Given the description of an element on the screen output the (x, y) to click on. 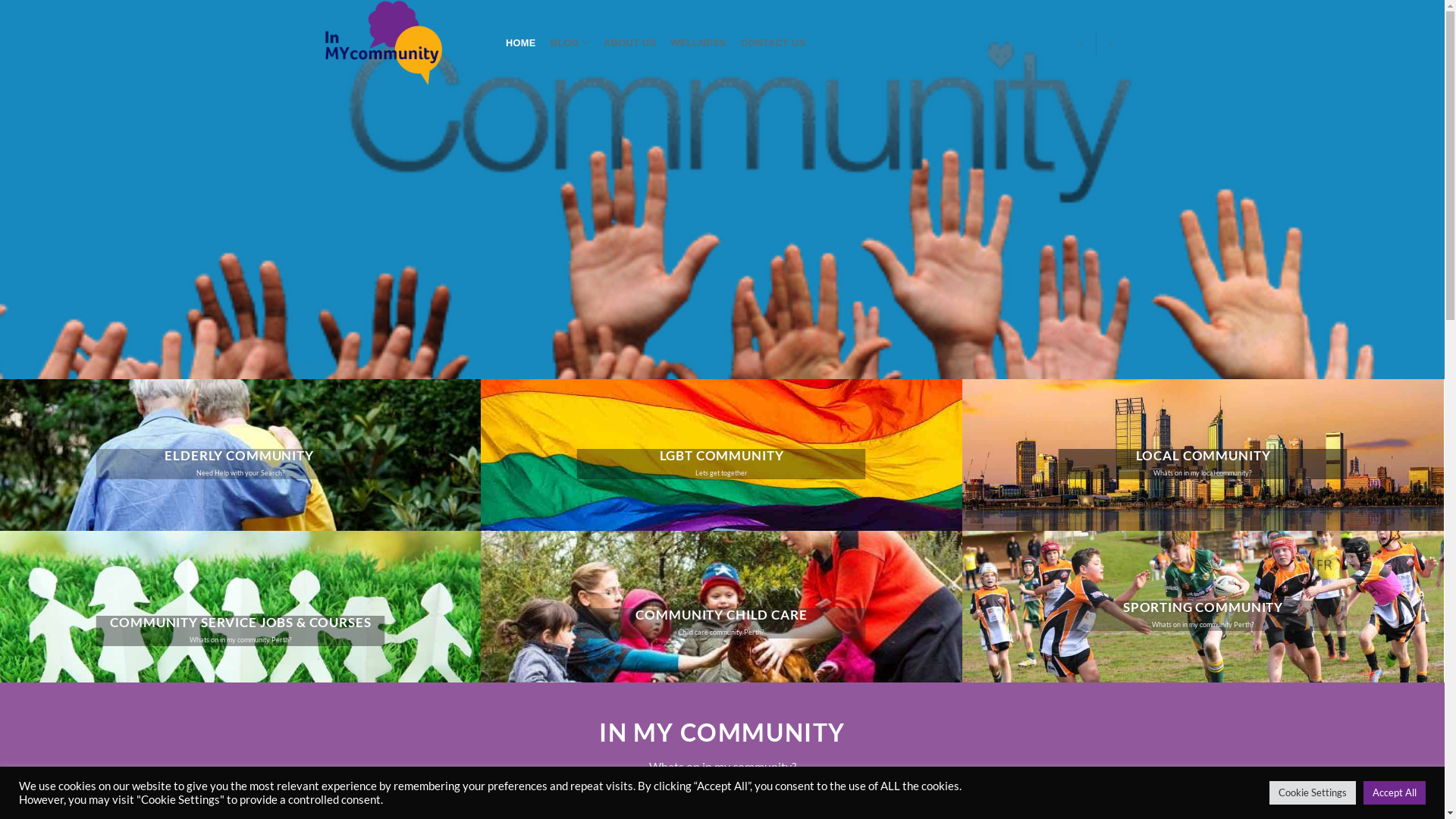
BLOG Element type: text (569, 42)
Cookie Settings Element type: text (1312, 792)
ABOUT US Element type: text (629, 42)
In My Community, Connecting Australia. - Community Directory Element type: hover (400, 42)
Accept All Element type: text (1394, 792)
- Element type: text (1111, 42)
- Element type: text (1081, 42)
WELLNESS Element type: text (698, 42)
HOME Element type: text (520, 42)
CONTACT US Element type: text (772, 42)
